Given the description of an element on the screen output the (x, y) to click on. 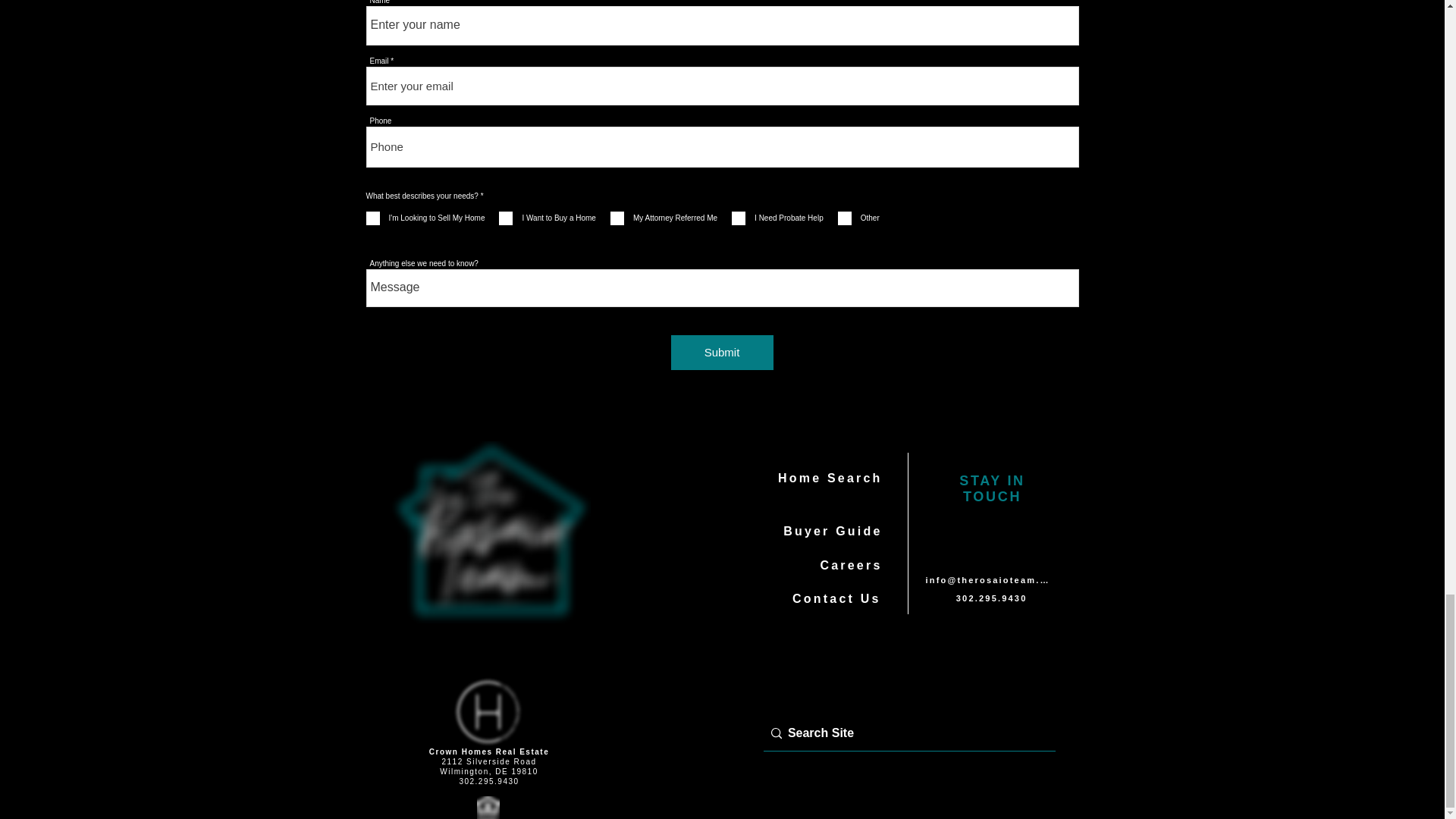
Submit (721, 352)
